Given the description of an element on the screen output the (x, y) to click on. 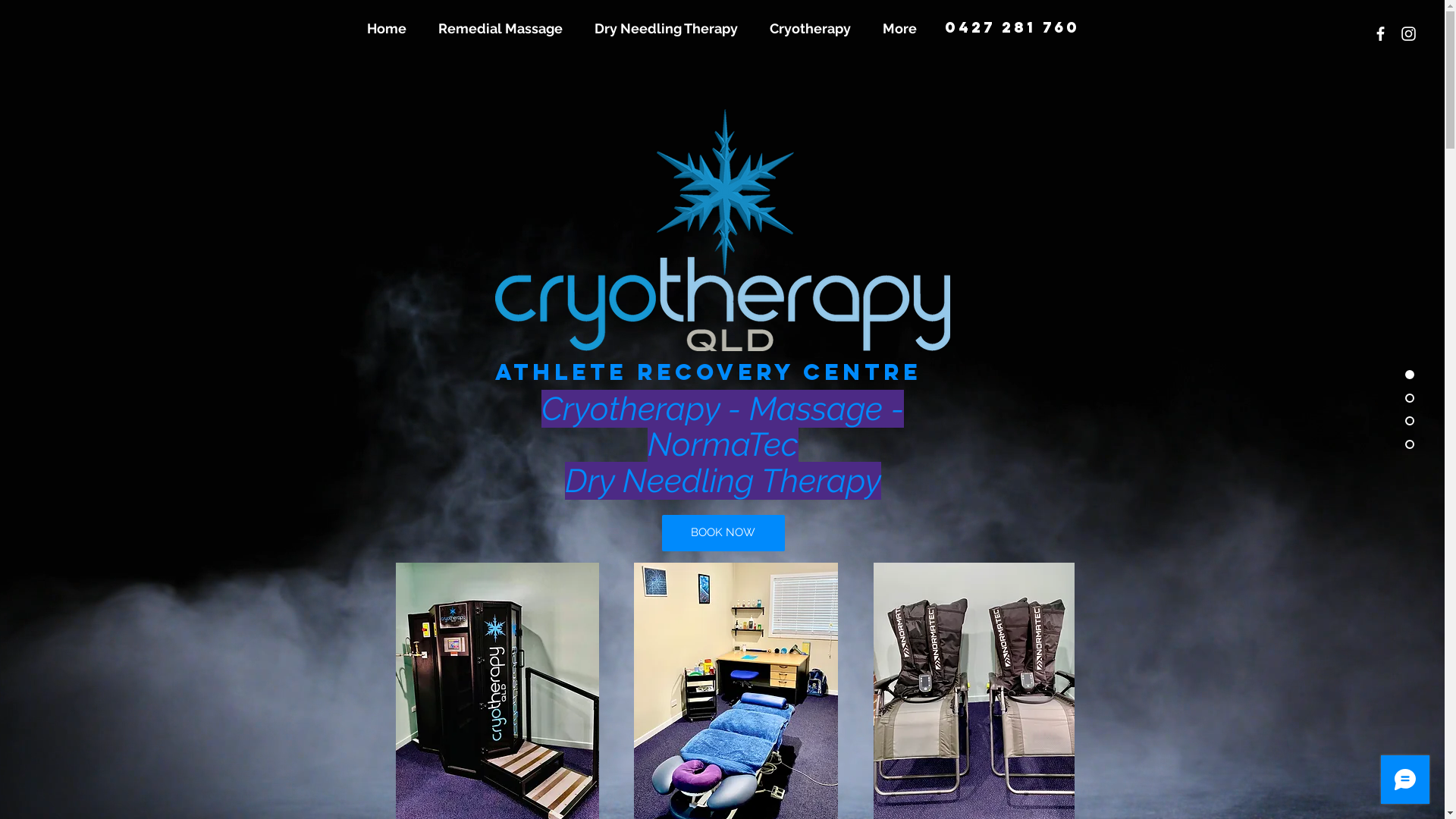
BOOK NOW Element type: text (722, 532)
0427 281 760 Element type: text (1011, 26)
Dry Needling Therapy Element type: text (669, 28)
Home Element type: text (390, 28)
Cryotherapy Element type: text (814, 28)
Remedial Massage Element type: text (504, 28)
